Given the description of an element on the screen output the (x, y) to click on. 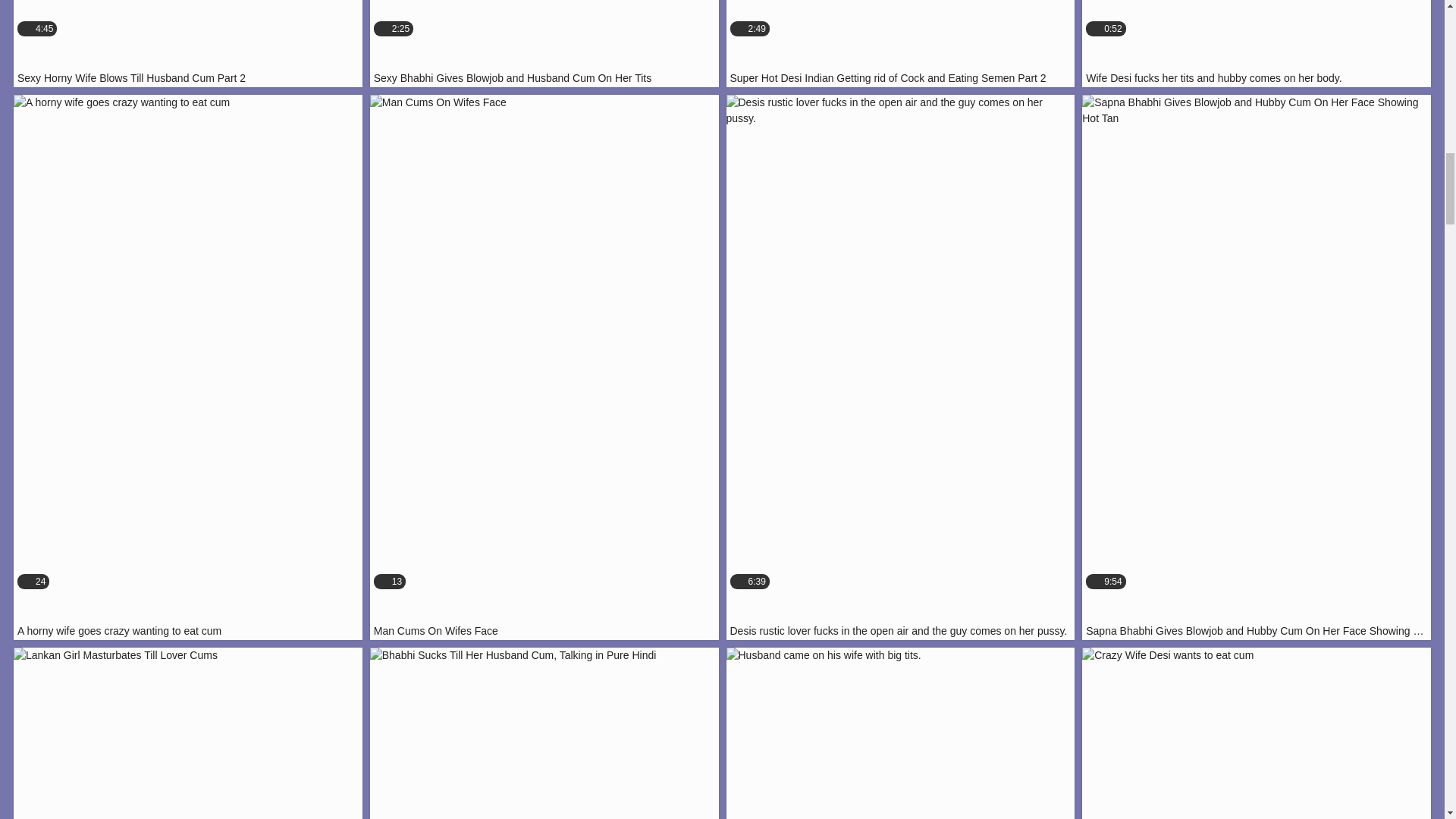
Lankan Girl Masturbates Till Lover Cums (187, 733)
Sexy Horny Wife Blows Till Husband Cum Part 2 (187, 43)
Bhabhi Sucks Till Her Husband Cum, Talking in Pure Hindi (187, 43)
Crazy Wife Desi wants to eat cum (544, 733)
Wife Desi fucks her tits and hubby comes on her body. (187, 733)
Husband came on his wife with big tits. (1256, 733)
